Given the description of an element on the screen output the (x, y) to click on. 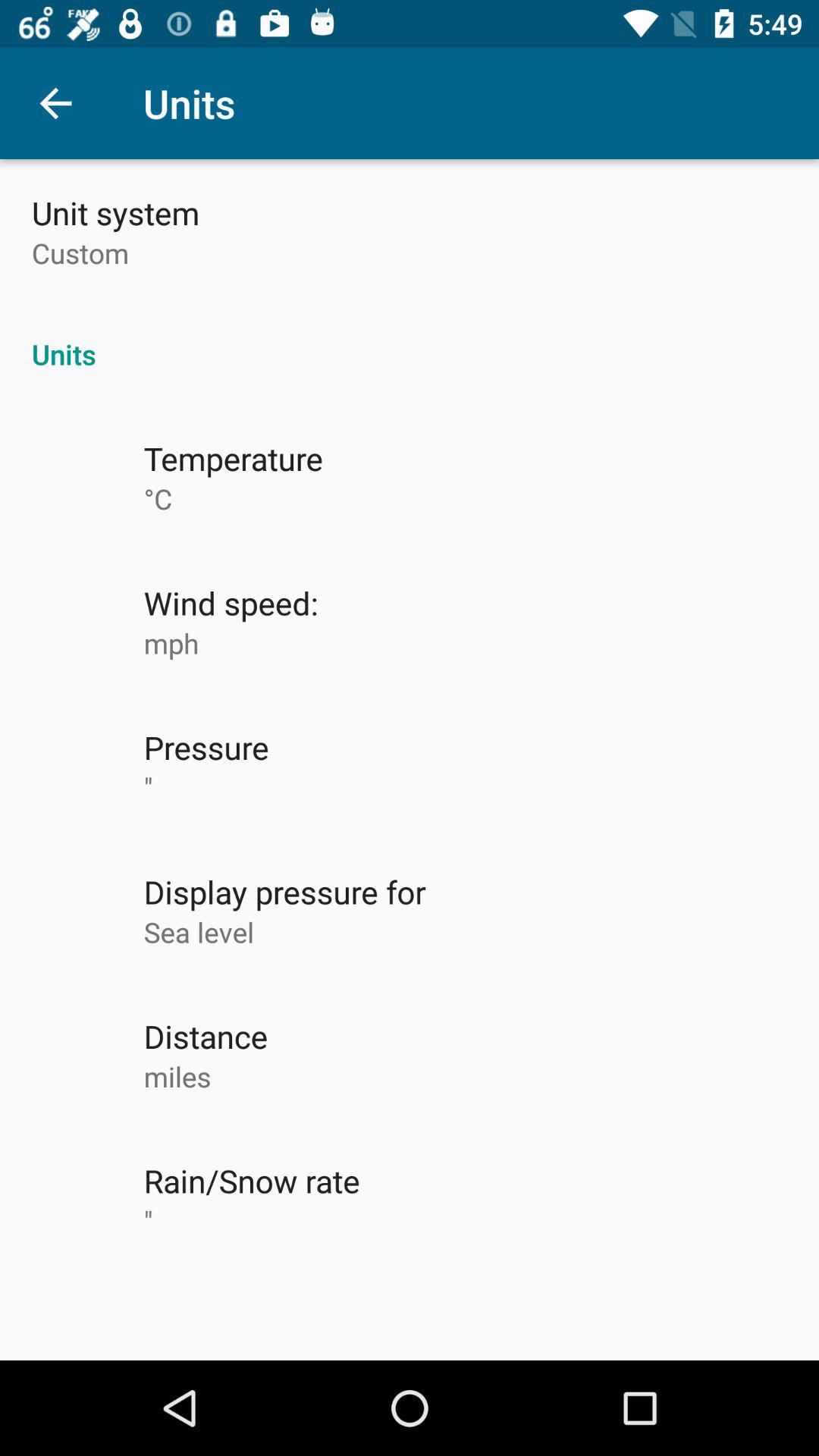
press the item next to the units item (55, 103)
